Given the description of an element on the screen output the (x, y) to click on. 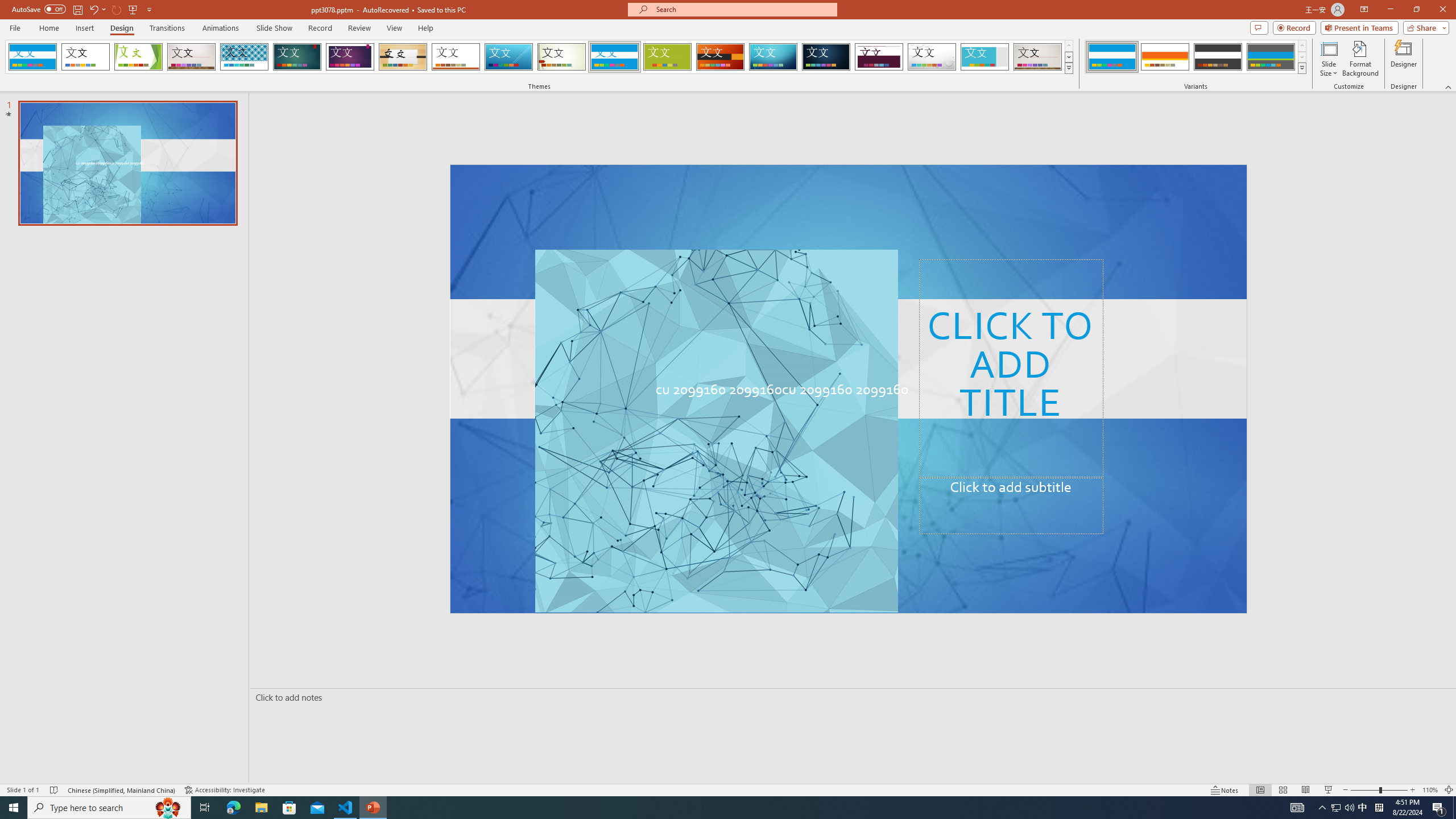
Gallery (1037, 56)
